Given the description of an element on the screen output the (x, y) to click on. 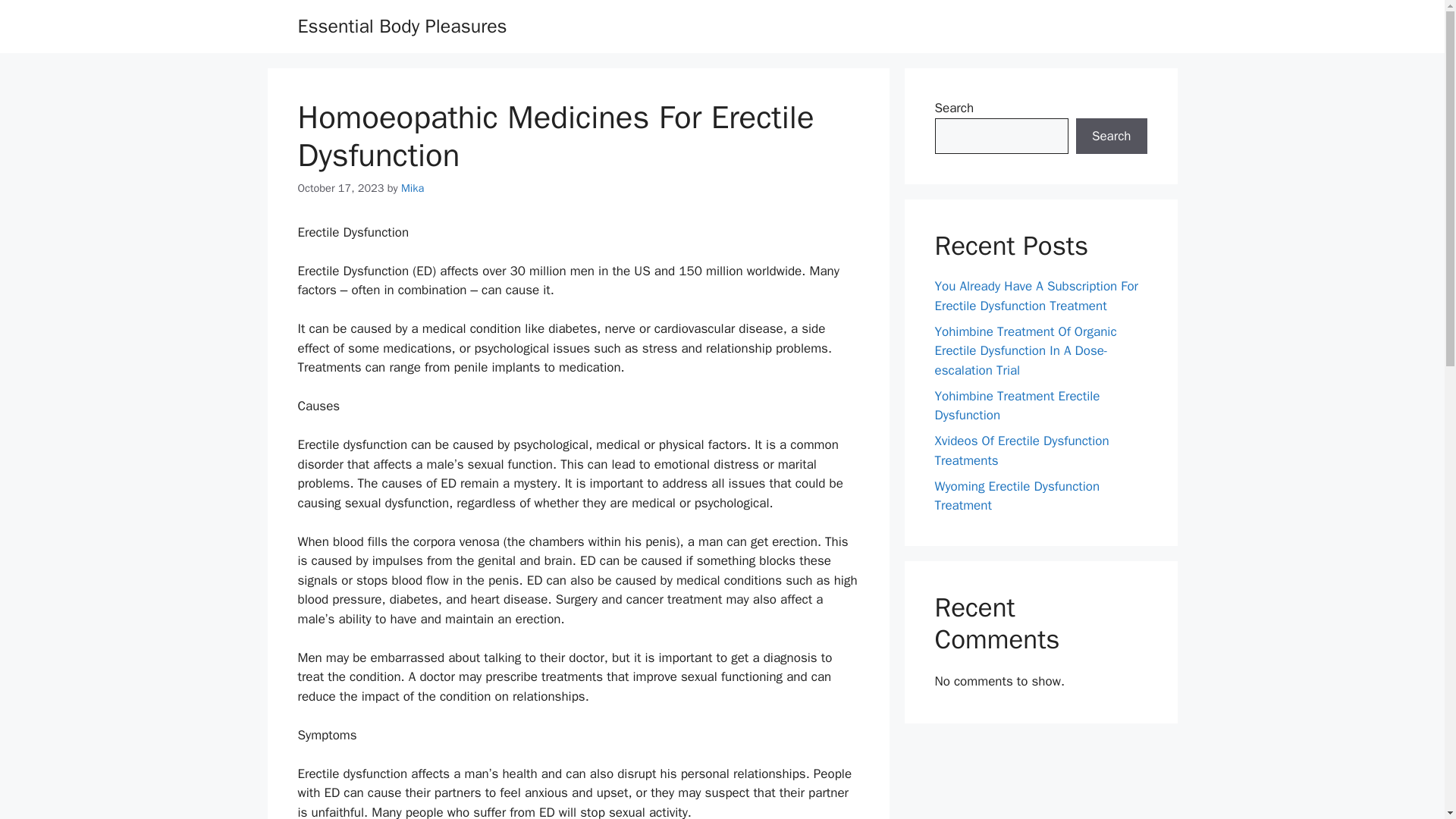
Wyoming Erectile Dysfunction Treatment (1016, 495)
Essential Body Pleasures (401, 25)
Mika (412, 187)
View all posts by Mika (412, 187)
Xvideos Of Erectile Dysfunction Treatments (1021, 450)
Yohimbine Treatment Erectile Dysfunction (1016, 406)
Search (1111, 135)
